Given the description of an element on the screen output the (x, y) to click on. 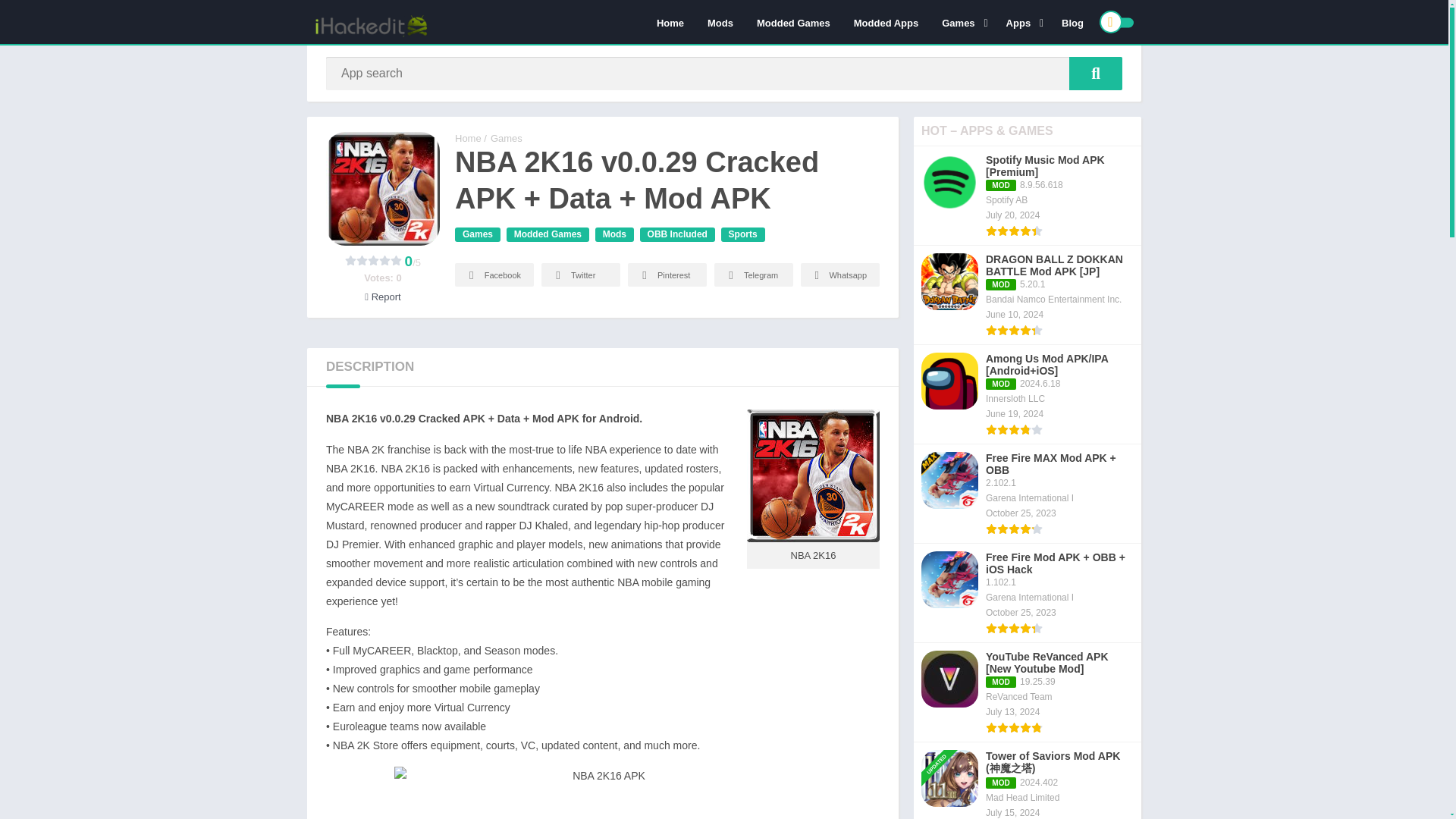
Modded Games (793, 22)
Mods (719, 22)
iHackedit (467, 138)
Modded Apps (886, 22)
Updated (941, 744)
Home (670, 22)
Games (961, 22)
Apps (1021, 22)
App search (1095, 73)
